Given the description of an element on the screen output the (x, y) to click on. 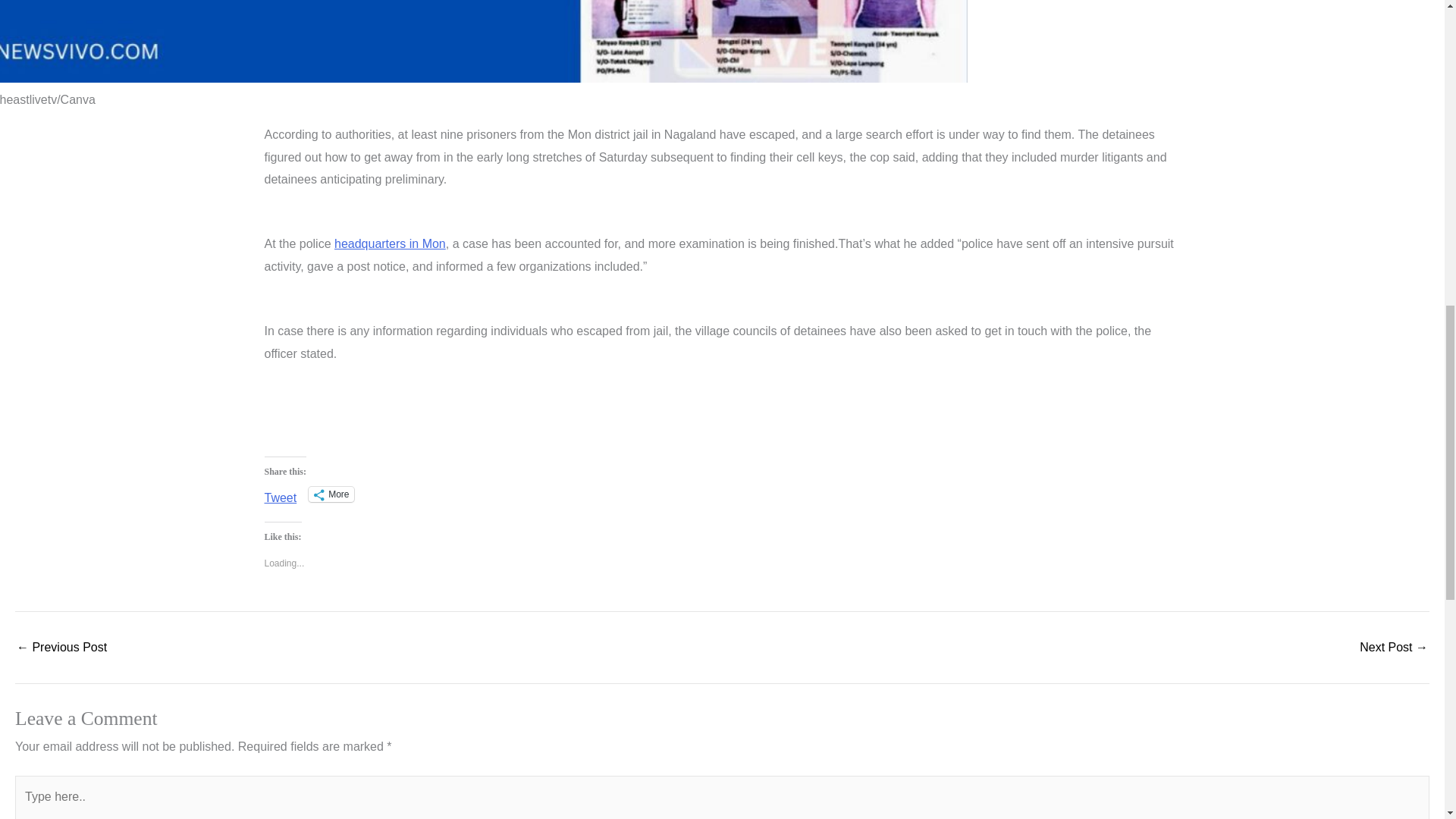
headquarters in Mon (389, 243)
Reduce personal income tax rates and decriminalise GST law (1393, 647)
